Given the description of an element on the screen output the (x, y) to click on. 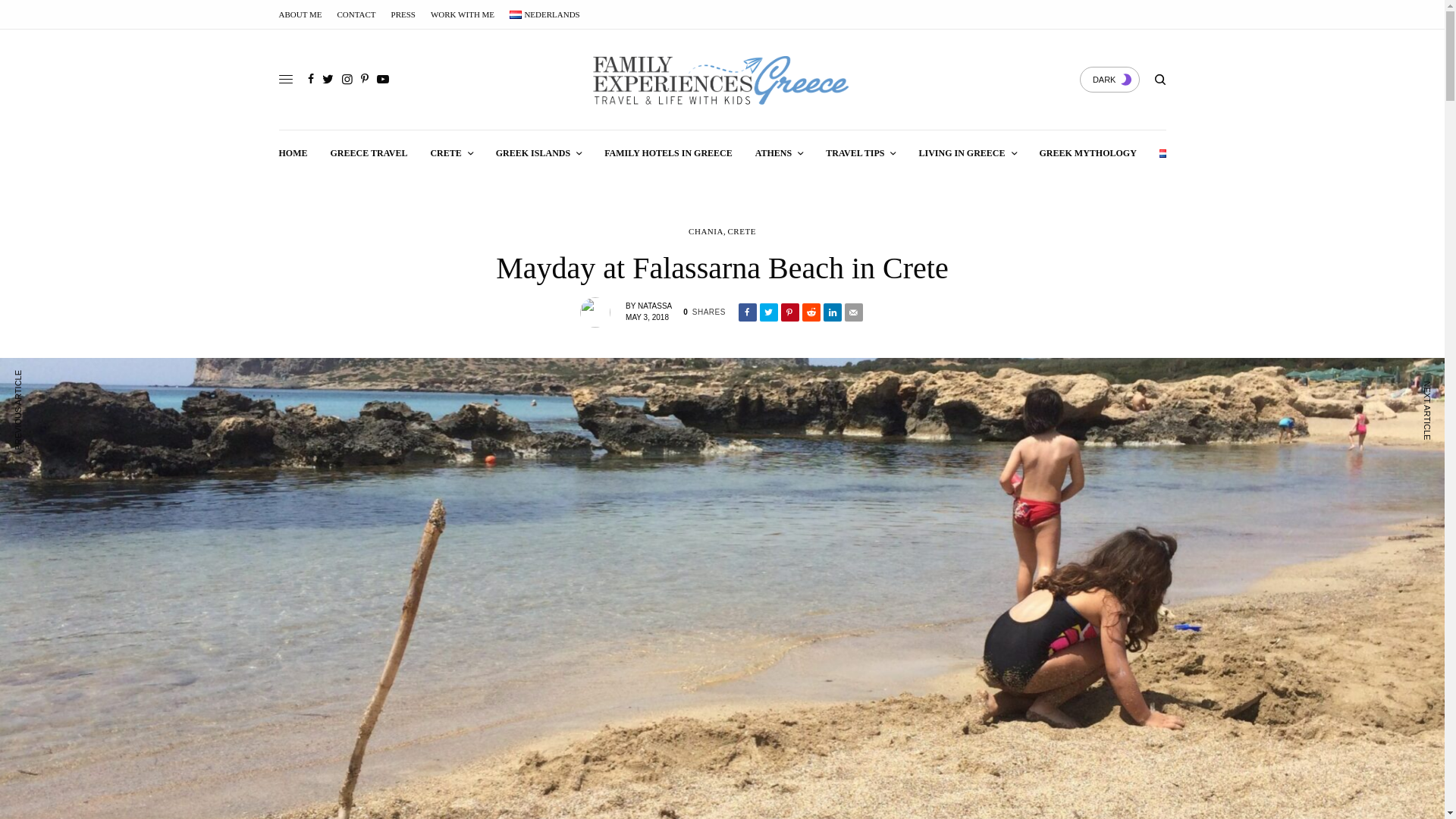
FAMILY HOTELS IN GREECE (668, 153)
CONTACT (355, 14)
GREECE TRAVEL (368, 153)
Posts by Natassa (654, 306)
WORK WITH ME (462, 14)
CRETE (450, 153)
GREEK ISLANDS (538, 153)
ATHENS (779, 153)
TRAVEL TIPS (860, 153)
NEDERLANDS (544, 14)
ABOUT ME (300, 14)
